Given the description of an element on the screen output the (x, y) to click on. 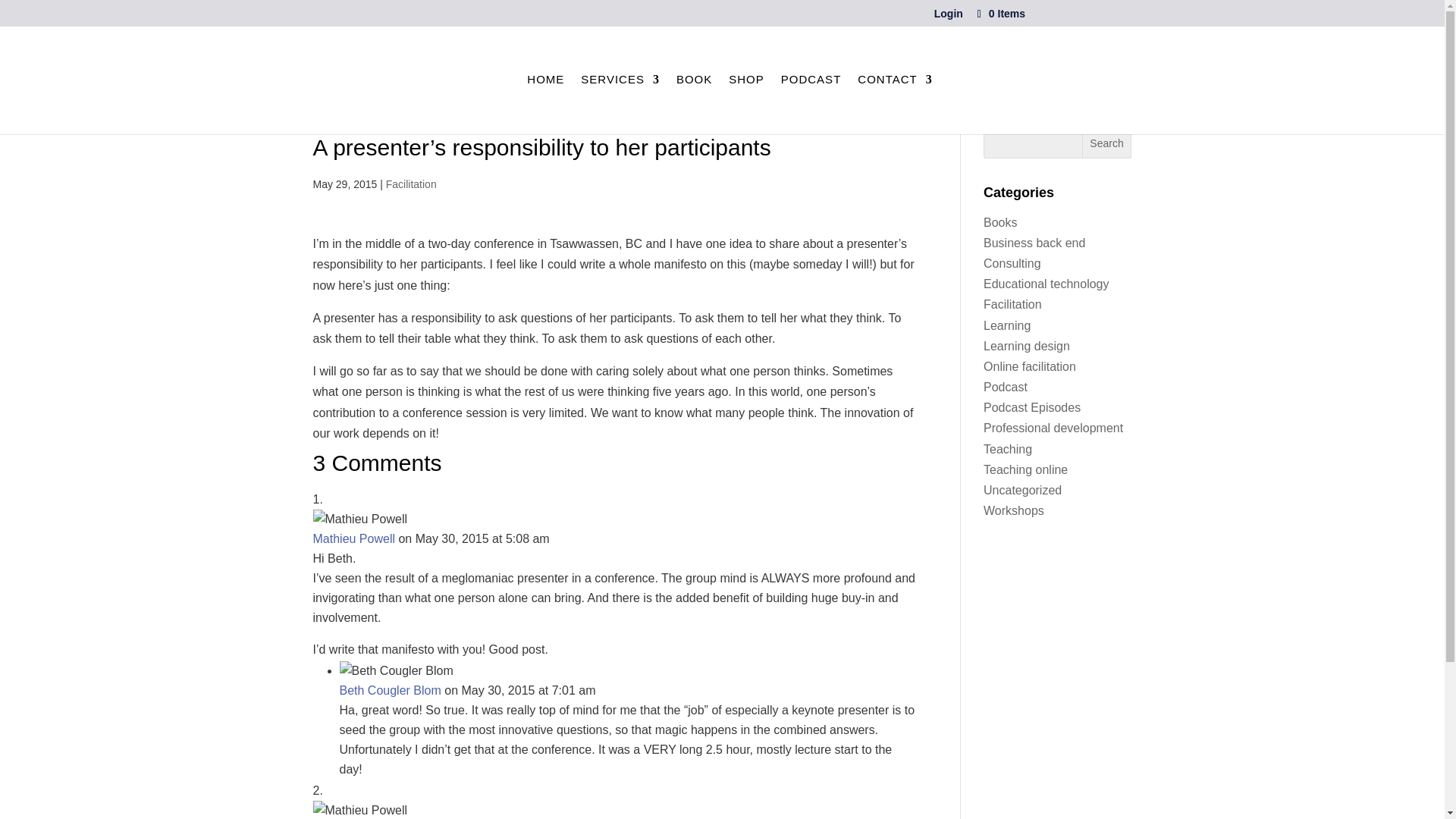
Facilitation (410, 184)
PODCAST (810, 86)
Search (1106, 142)
Podcast (1005, 386)
Mathieu Powell (353, 538)
Podcast Episodes (1032, 407)
Workshops (1013, 510)
Search (1106, 142)
Educational technology (1046, 283)
SHOP (746, 86)
